Given the description of an element on the screen output the (x, y) to click on. 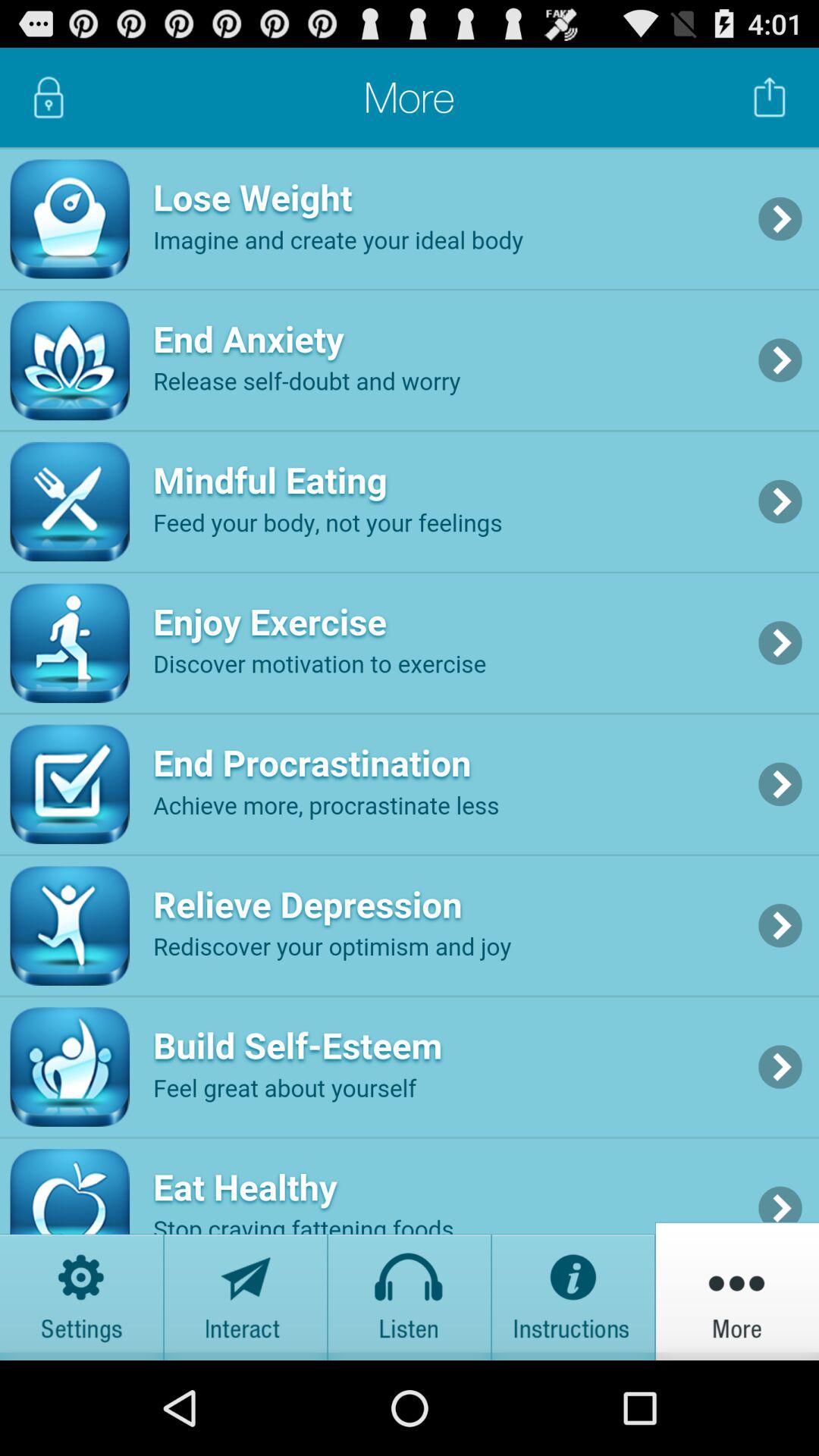
interact page (245, 1290)
